Given the description of an element on the screen output the (x, y) to click on. 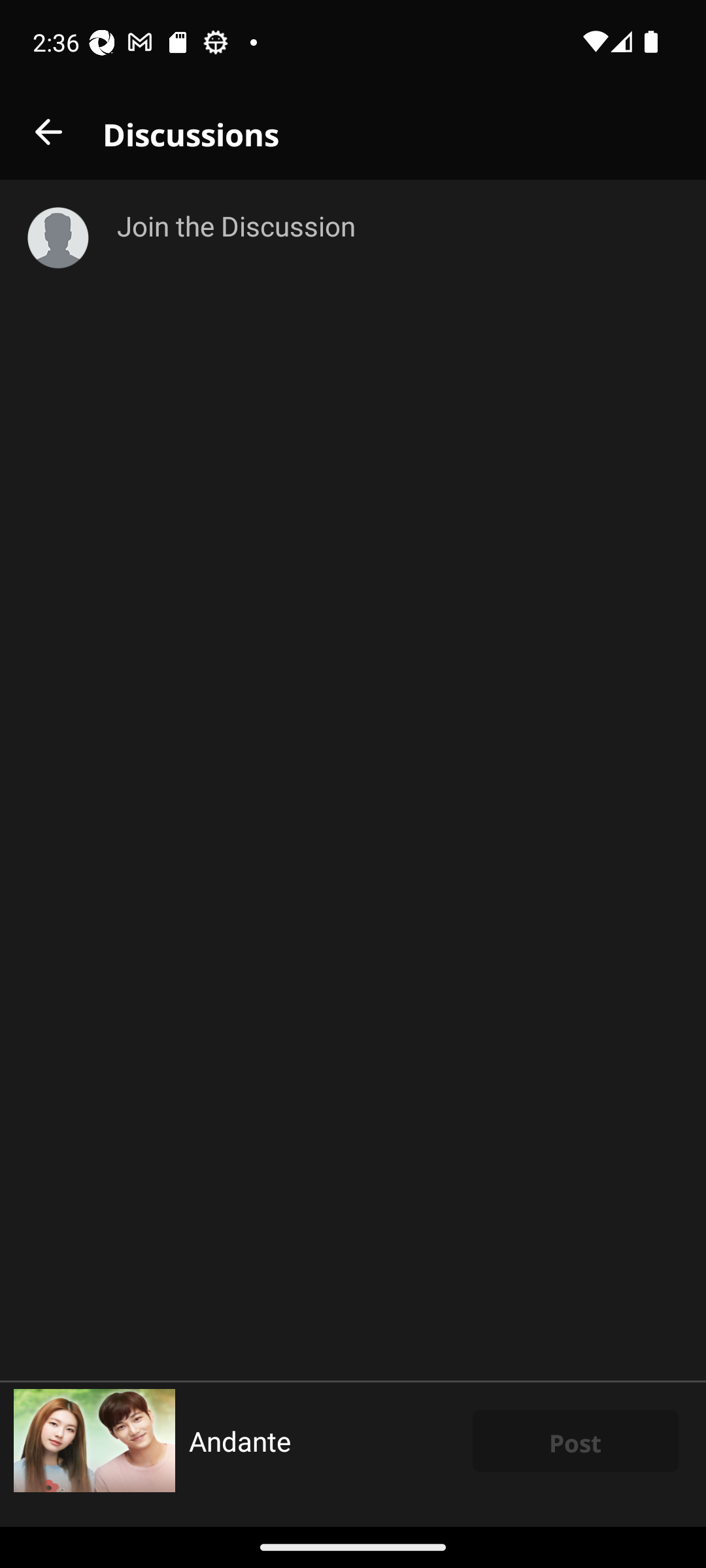
close_button (48, 131)
Join the Discussion (397, 779)
Post (575, 1440)
